Given the description of an element on the screen output the (x, y) to click on. 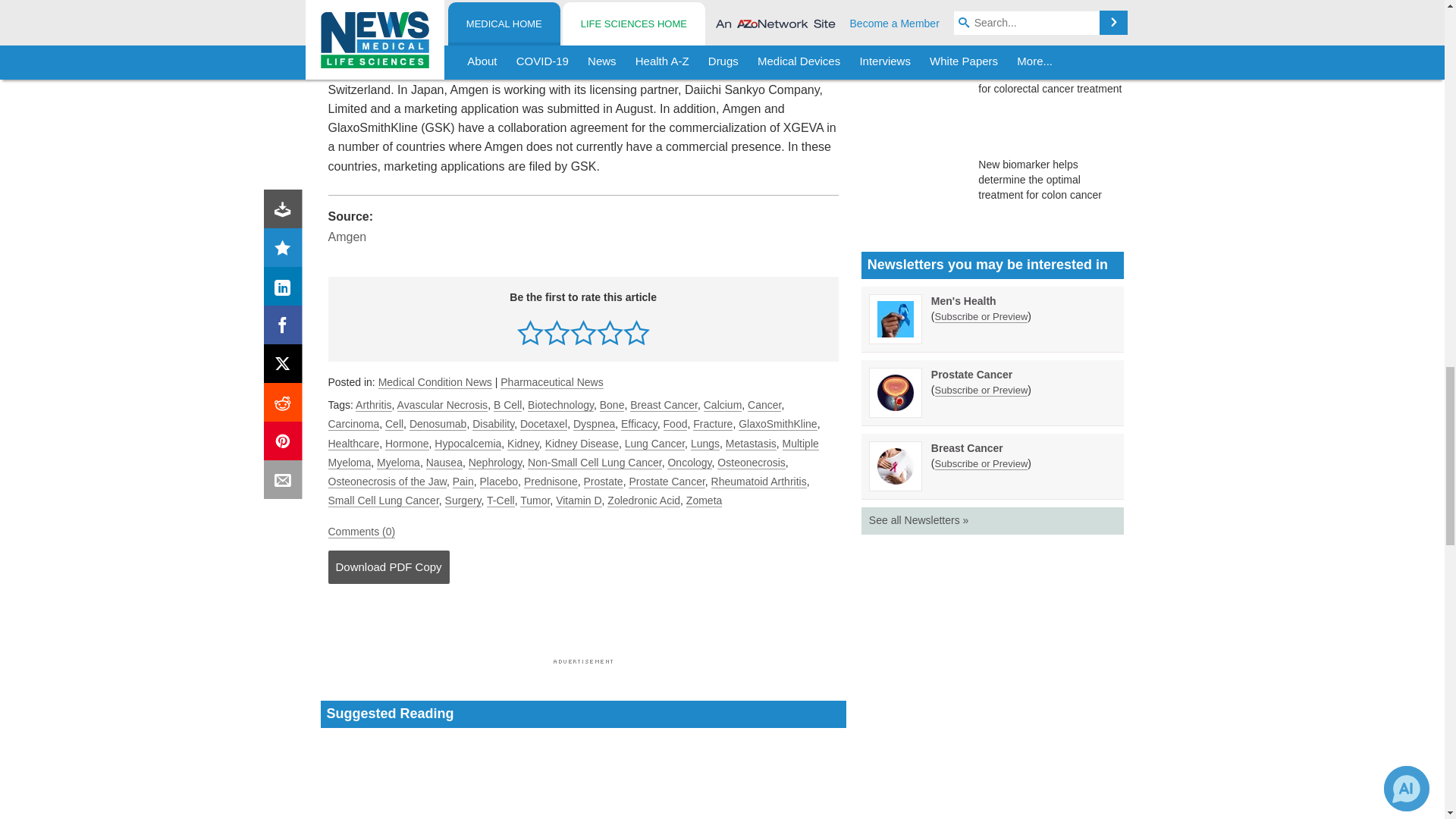
Rate this 4 stars out of 5 (609, 332)
Rate this 5 stars out of 5 (636, 332)
